Given the description of an element on the screen output the (x, y) to click on. 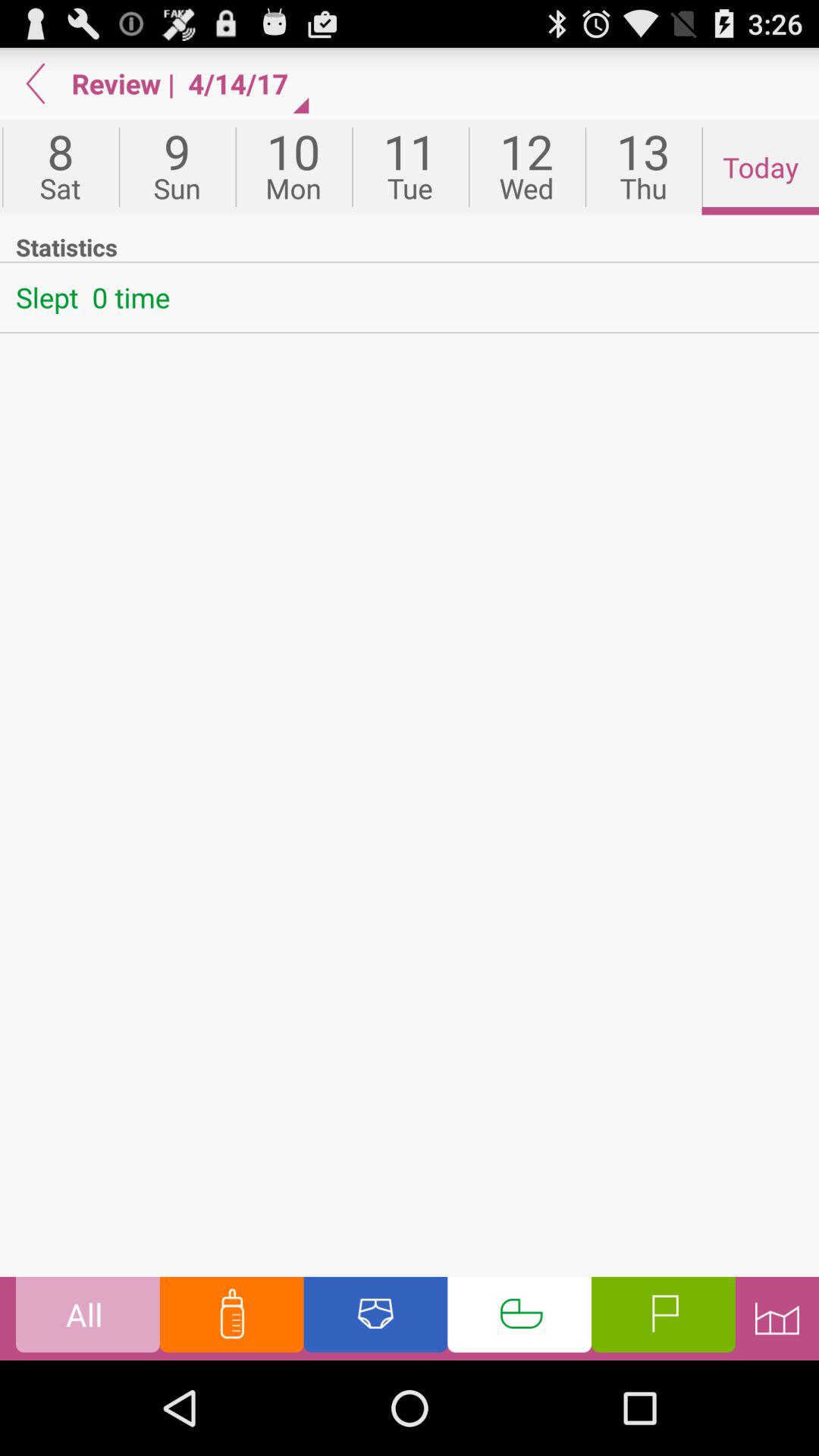
open the icon next to 13 icon (760, 166)
